Given the description of an element on the screen output the (x, y) to click on. 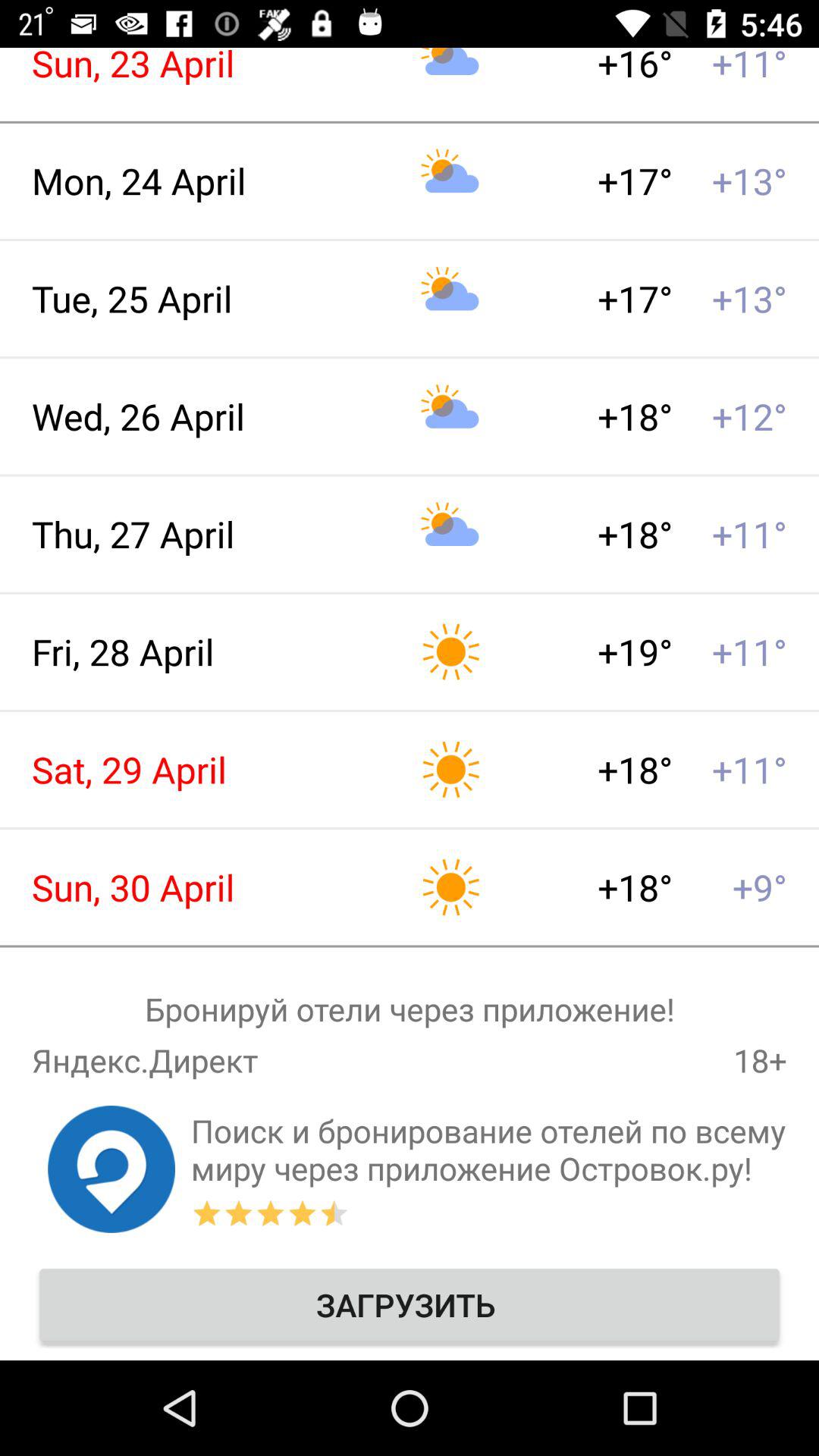
select the option which is at the bottom of the screen (409, 1304)
go to right of second last row (488, 1149)
